Given the description of an element on the screen output the (x, y) to click on. 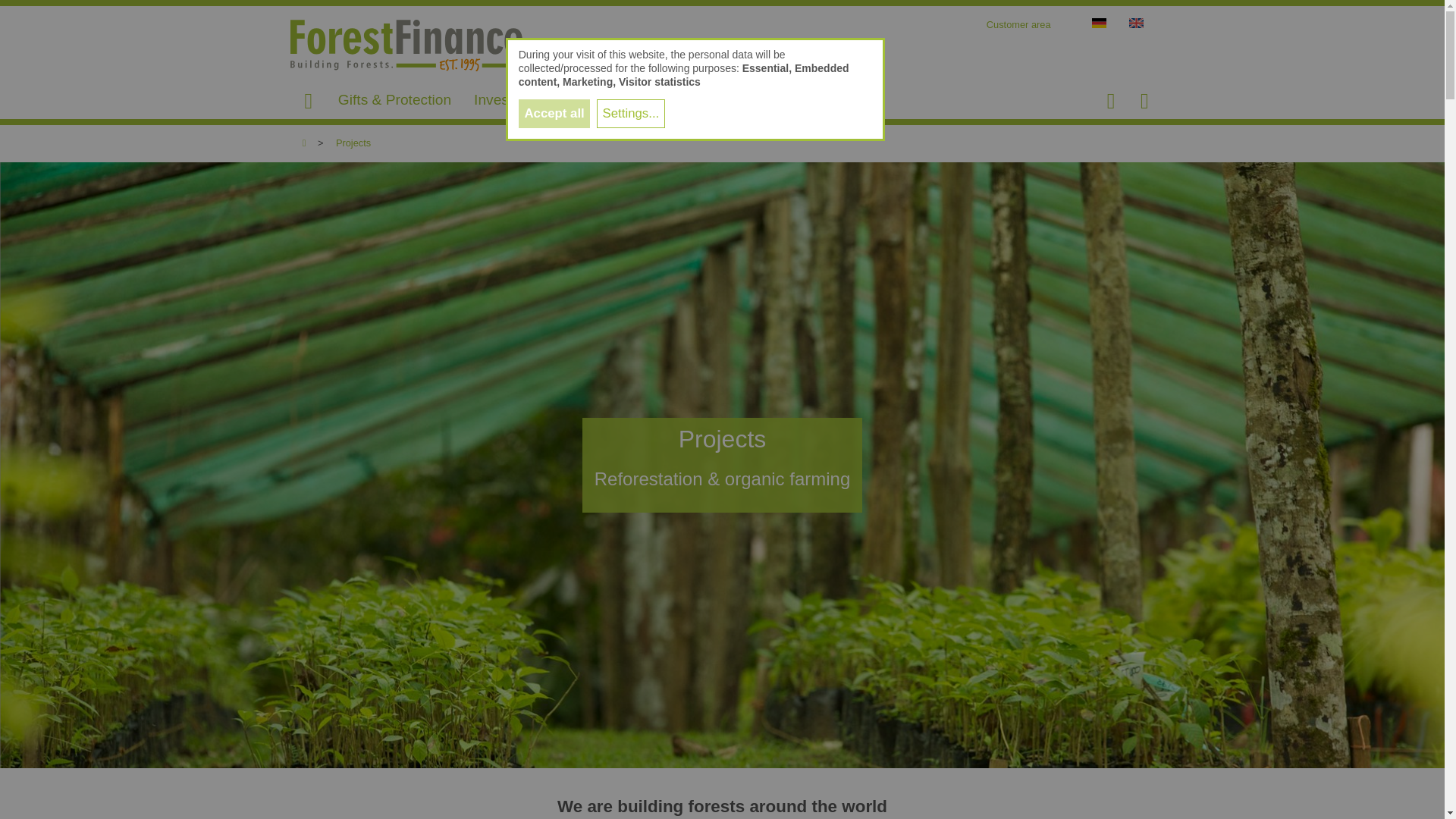
Investments (513, 99)
Projects (353, 143)
Media (816, 99)
Projects (748, 99)
Impact (597, 99)
Customer area (1018, 24)
About us (670, 99)
